Given the description of an element on the screen output the (x, y) to click on. 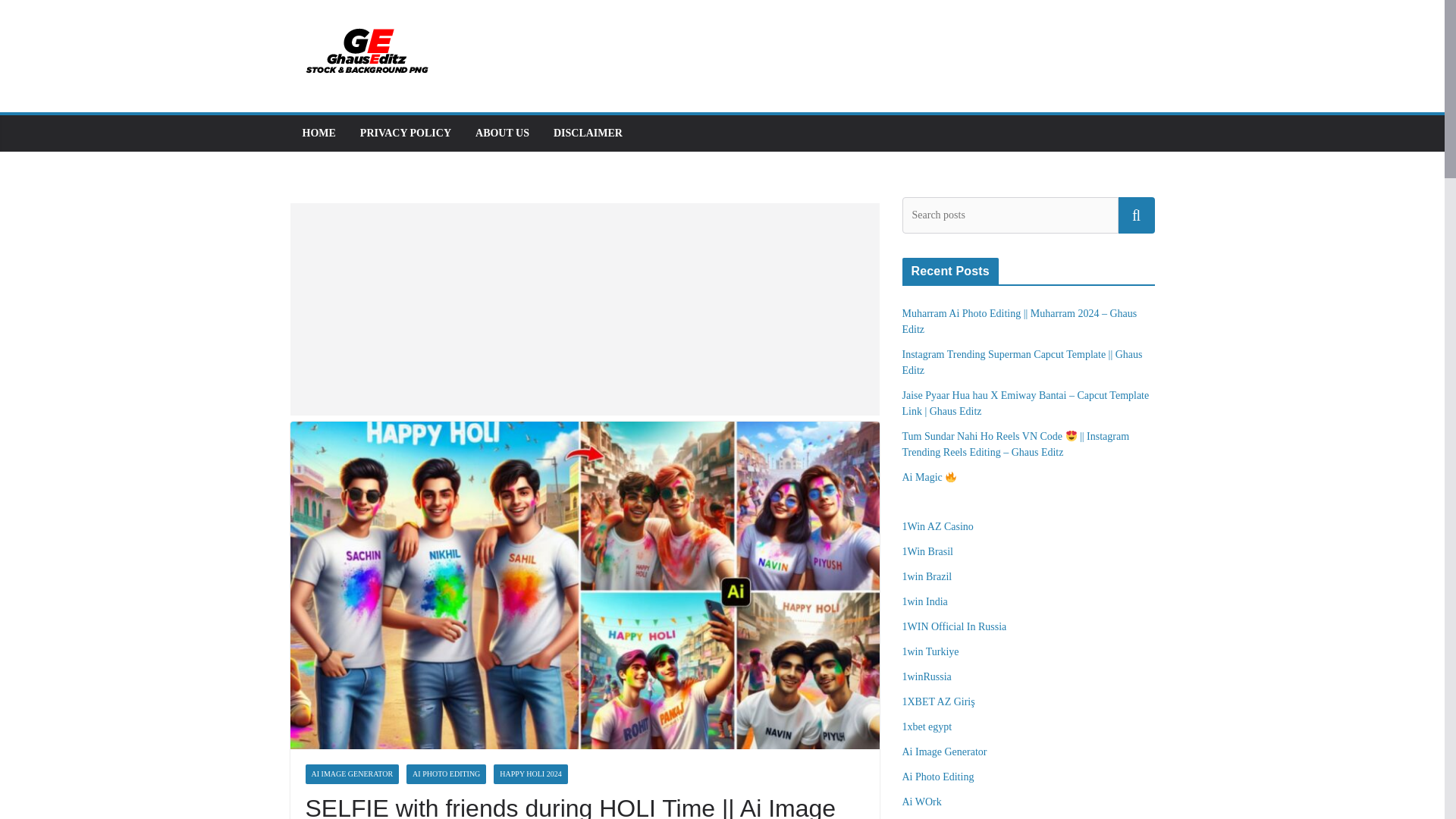
Ai WOrk (922, 801)
Ai Magic (930, 477)
1Win Brasil (927, 551)
PRIVACY POLICY (405, 133)
HAPPY HOLI 2024 (530, 773)
1winRussia (927, 676)
AI IMAGE GENERATOR (351, 773)
Ai Image Generator (944, 751)
Search (1136, 215)
1Win AZ Casino (938, 526)
1win India (924, 601)
HOME (317, 133)
DISCLAIMER (588, 133)
1win Brazil (927, 576)
ABOUT US (502, 133)
